Given the description of an element on the screen output the (x, y) to click on. 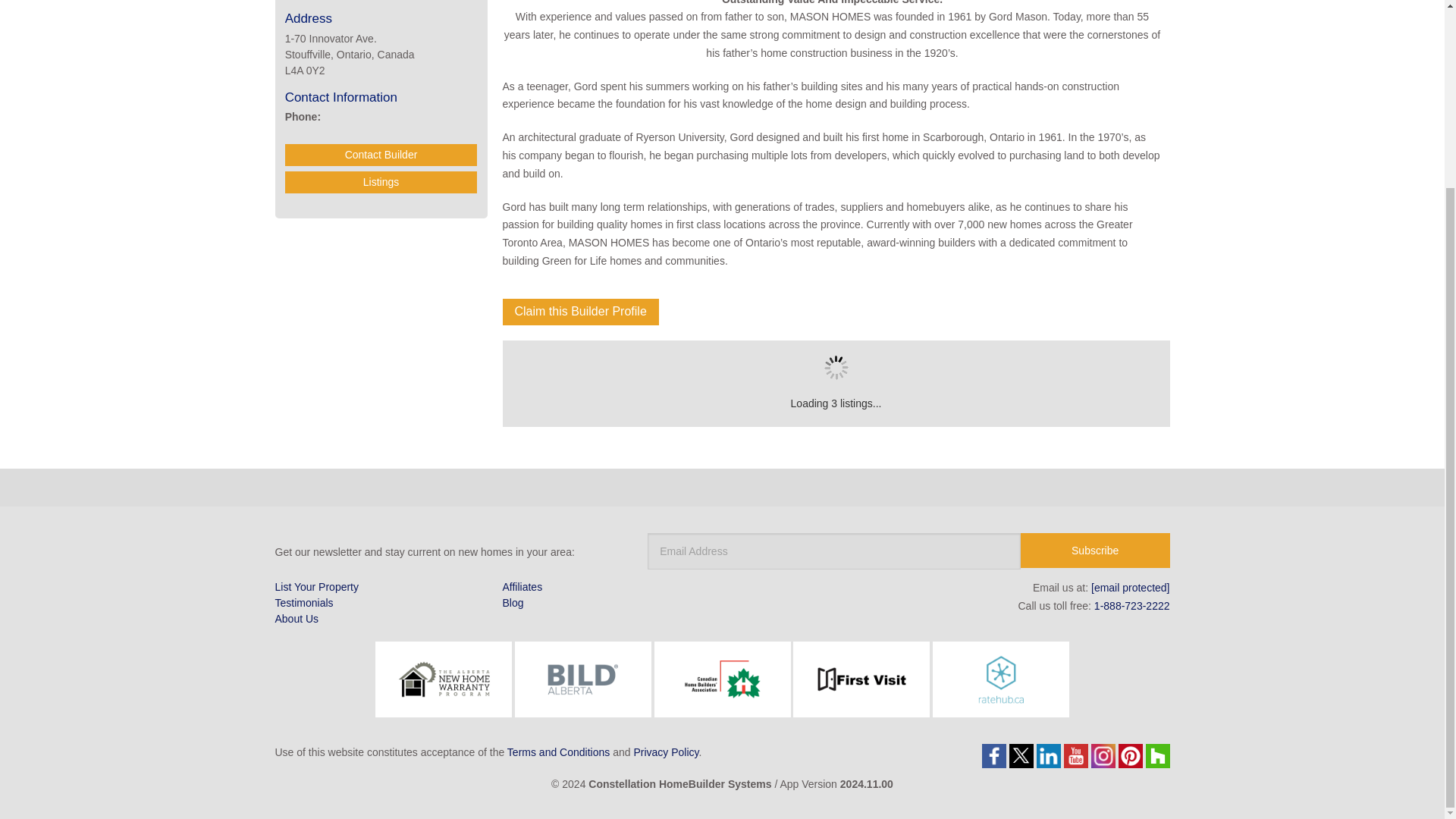
Contact Builder (381, 155)
Subscribe (1095, 550)
List Your Property (380, 587)
Claim this Builder Profile (580, 311)
Affiliates (684, 587)
New Home Warranties (804, 8)
Testimonials (380, 602)
About Us (380, 618)
Listings (381, 182)
Blog (684, 602)
